Given the description of an element on the screen output the (x, y) to click on. 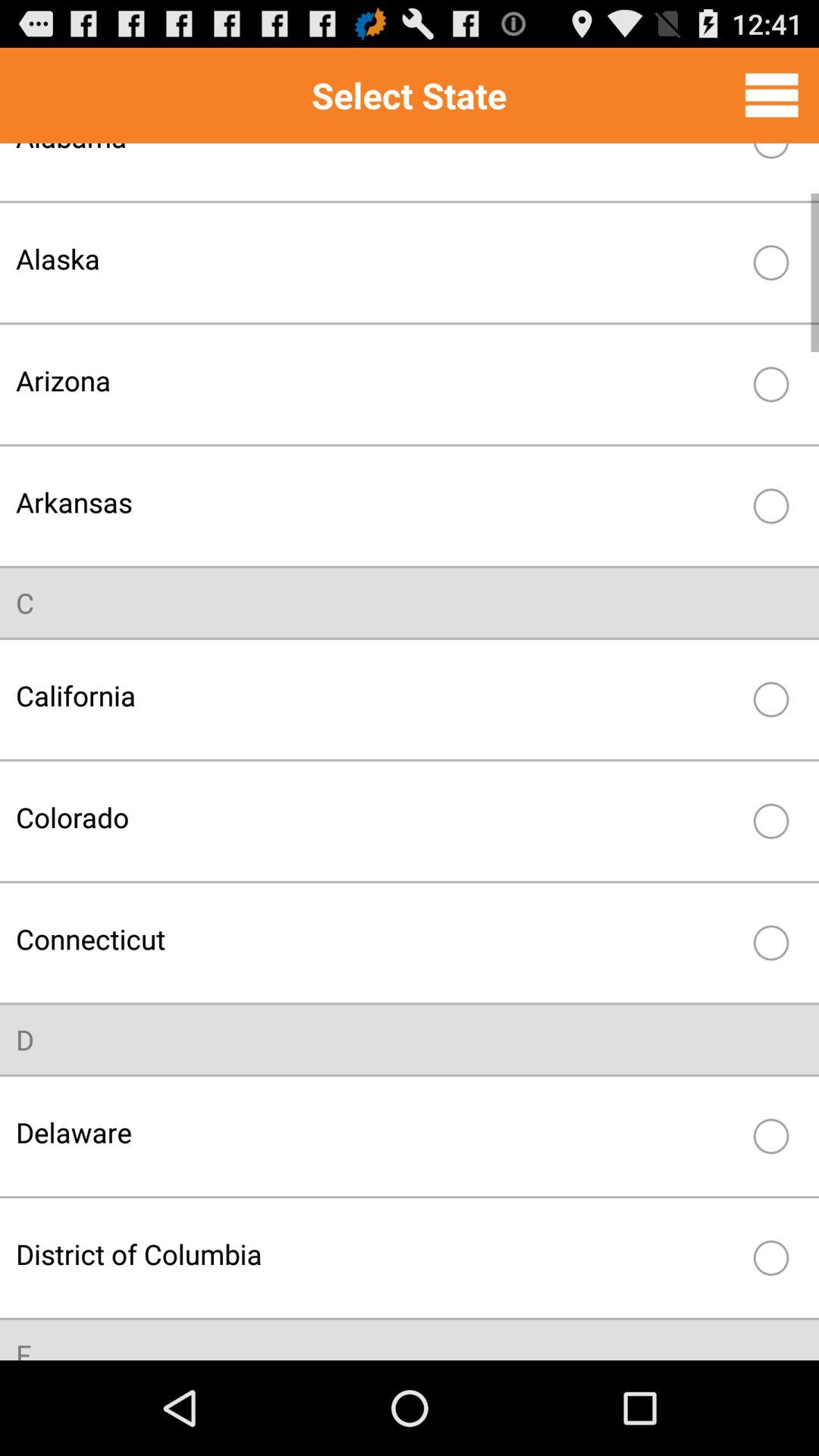
press the item above the california item (24, 602)
